Given the description of an element on the screen output the (x, y) to click on. 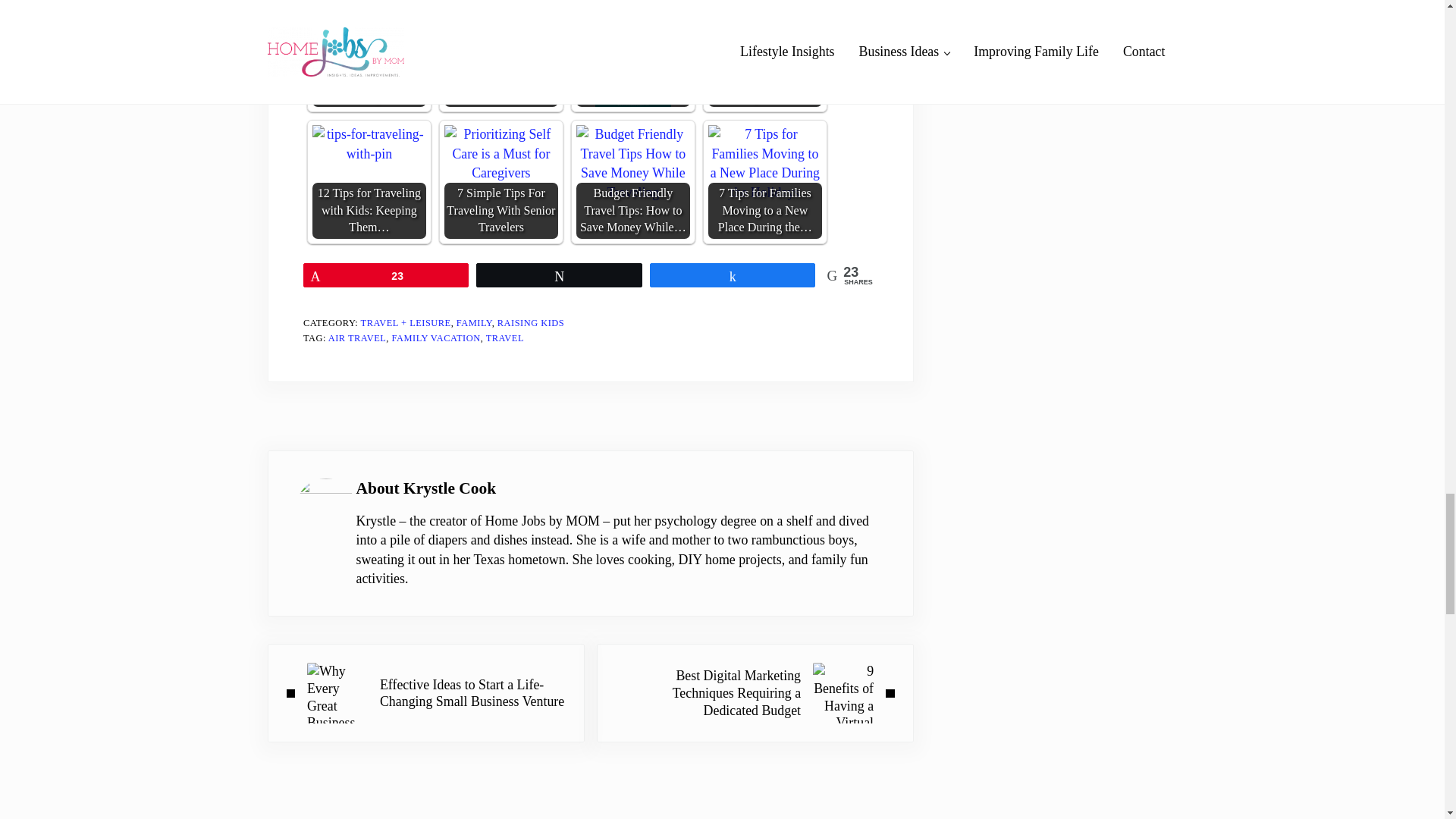
4 Tips for Helping Children Cope with Stressful Life Changes (369, 53)
6 Places in Atlanta Your Kids Will Go Gaga Over (764, 34)
6 Places in Atlanta Your Kids Will Go Gaga Over (764, 53)
7 Simple Tips For Traveling With Senior Travelers (500, 153)
7 Simple Tips For Traveling With Senior Travelers (500, 182)
How to Survive a 12-Hour Flight During Covid-19 (633, 53)
4 Tips for Helping Children Cope with Stressful Life Changes (369, 39)
